Given the description of an element on the screen output the (x, y) to click on. 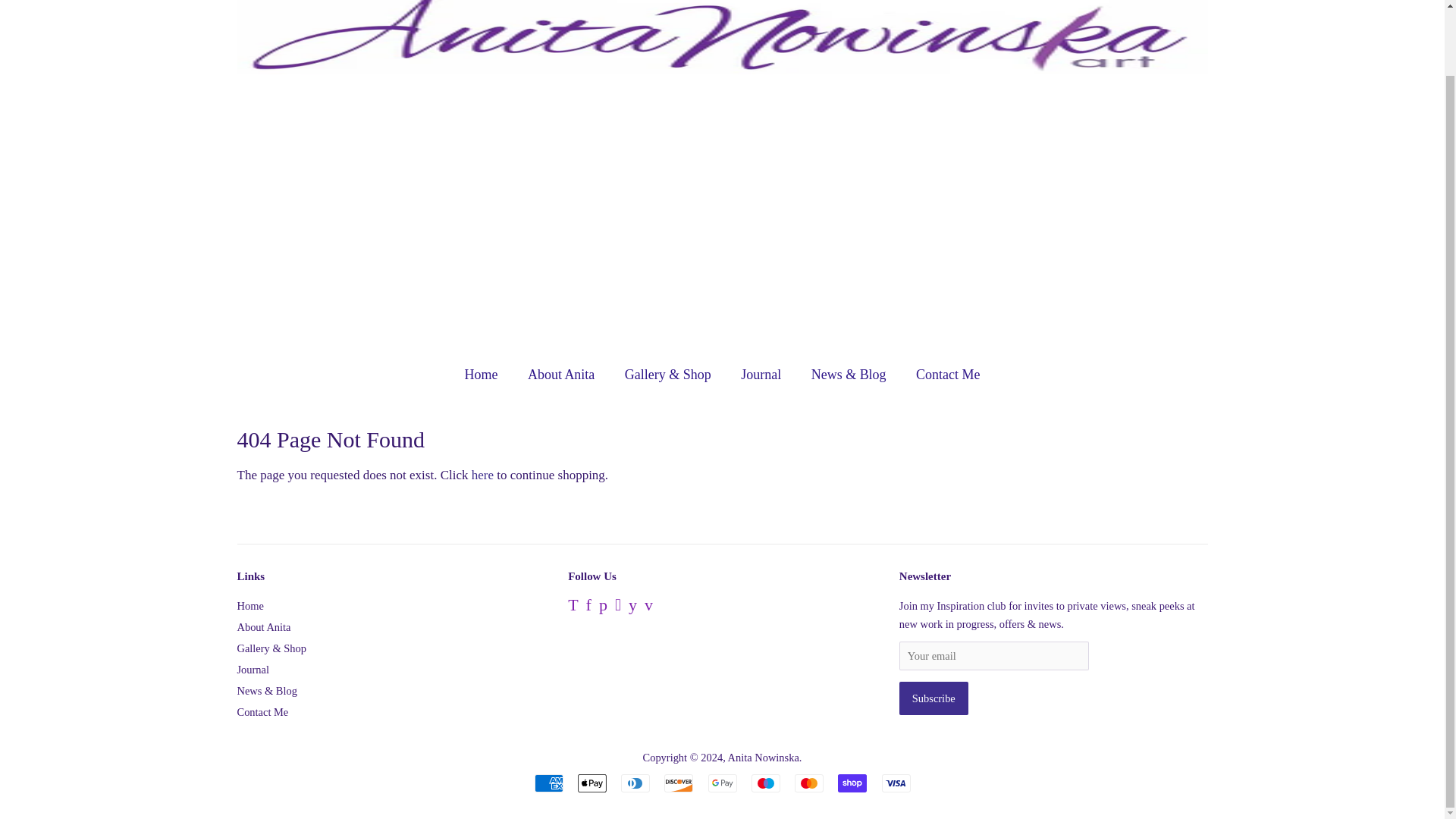
Home (249, 605)
Maestro (765, 782)
About Anita (563, 374)
Anita Nowinska (763, 757)
Mastercard (809, 782)
Contact Me (941, 374)
Google Pay (721, 782)
Journal (762, 374)
Subscribe (933, 697)
Shop Pay (852, 782)
American Express (548, 782)
Contact Me (261, 711)
Apple Pay (592, 782)
here (482, 474)
Discover (678, 782)
